Given the description of an element on the screen output the (x, y) to click on. 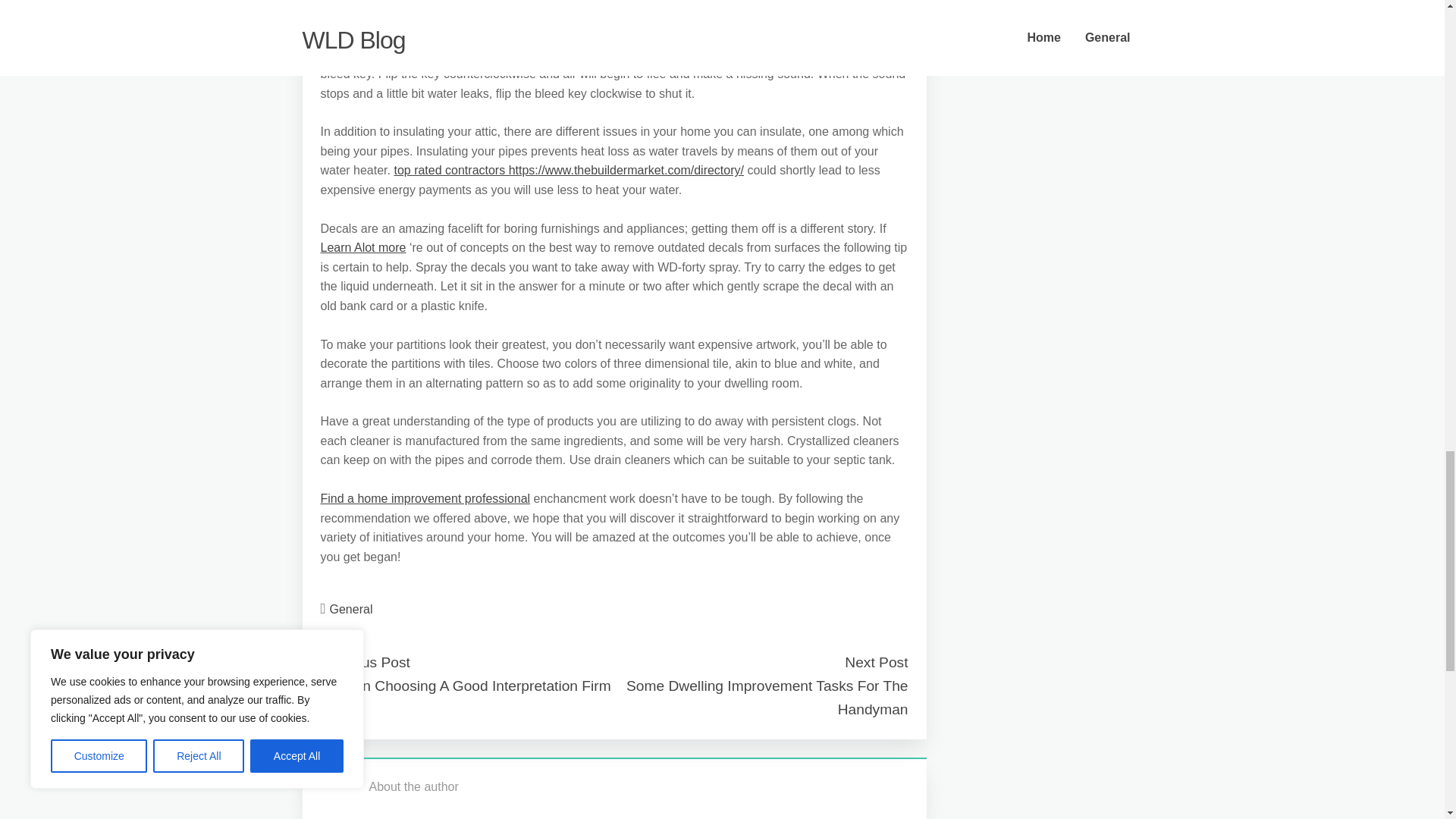
Learn Alot more (363, 246)
General (351, 608)
Some Dwelling Improvement Tasks For The Handyman (766, 697)
best site (342, 1)
Next Post (875, 662)
browse around here (409, 15)
Find a home improvement professional (424, 498)
Previous Post (364, 662)
Tips On Choosing A Good Interpretation Firm (465, 685)
